Given the description of an element on the screen output the (x, y) to click on. 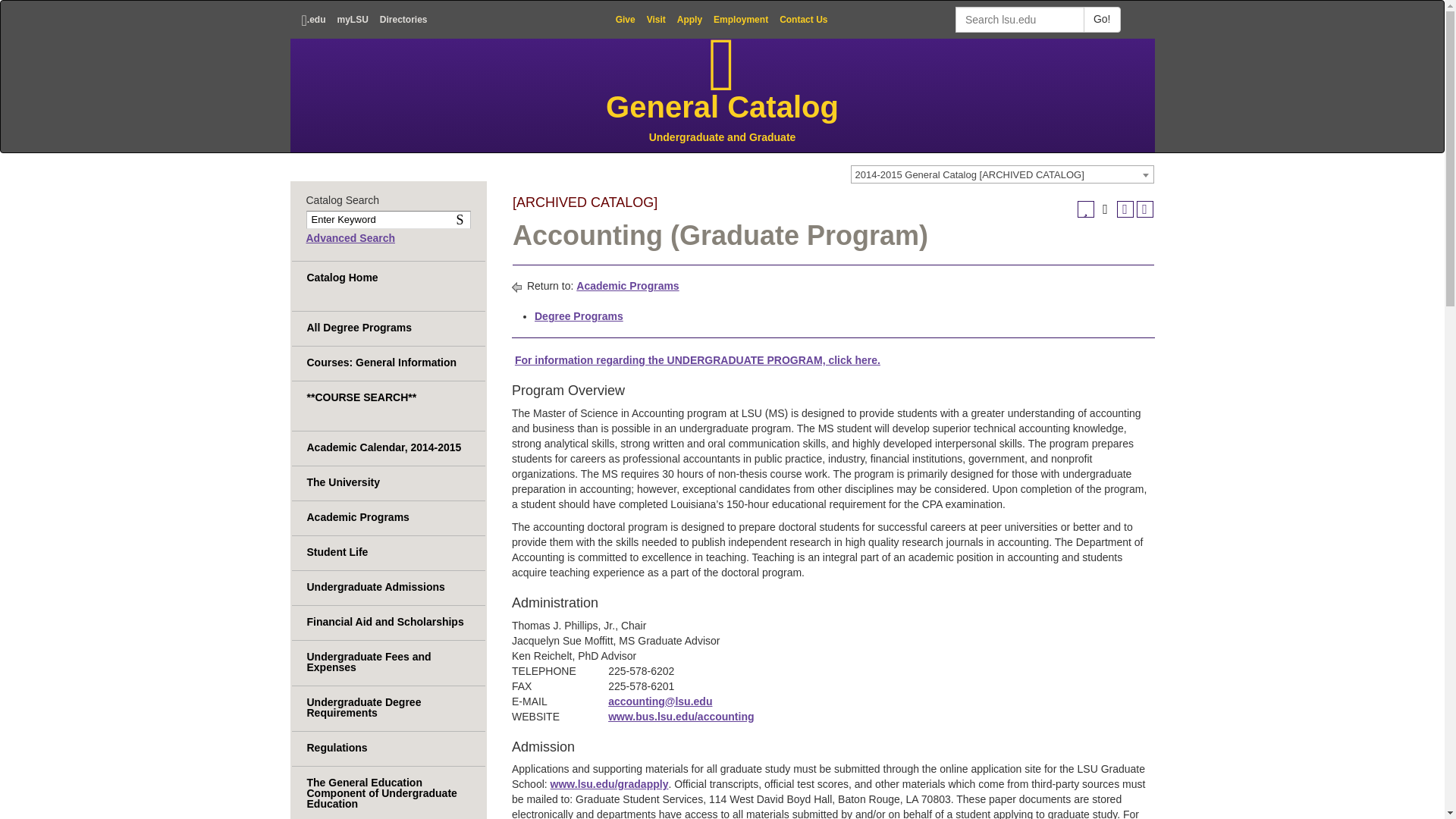
.edu (312, 19)
myLSU (351, 19)
Apply (689, 19)
Contact Us (803, 19)
Visit Campus (655, 19)
Give (625, 19)
Contact Information (803, 19)
Employment (739, 19)
Enter Keyword   (388, 219)
